Given the description of an element on the screen output the (x, y) to click on. 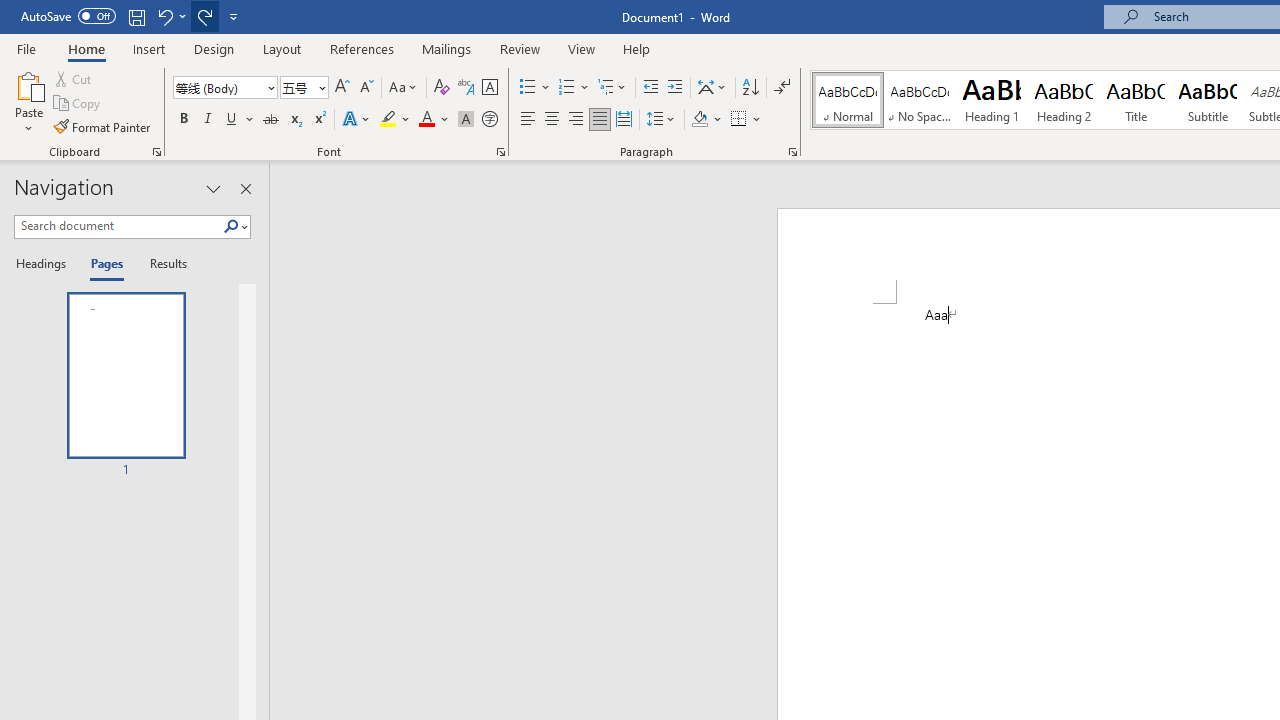
Align Right (575, 119)
Clear Formatting (442, 87)
Grow Font (342, 87)
Distributed (623, 119)
Superscript (319, 119)
Headings (45, 264)
Subtitle (1208, 100)
Asian Layout (712, 87)
Heading 2 (1063, 100)
